Given the description of an element on the screen output the (x, y) to click on. 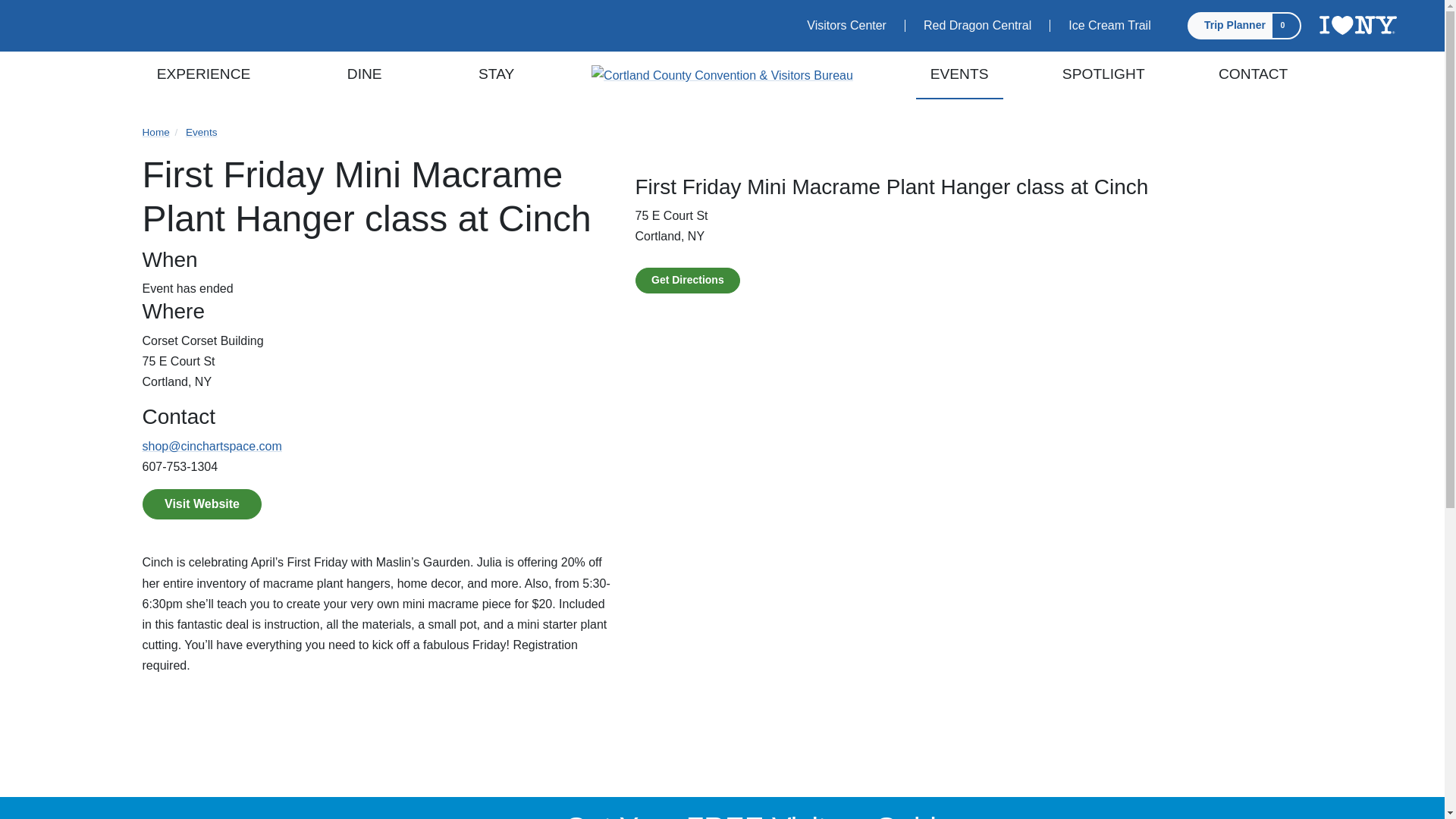
Red Dragon Central (977, 25)
EVENTS (959, 75)
Visit Website (202, 503)
Ice Cream Trail (1109, 25)
Events (201, 132)
First Friday Mini Macrame Plant Hanger class at Cinch (968, 229)
Get Directions (686, 280)
Instagram (129, 18)
Home (156, 132)
STAY (496, 75)
CONTACT (1253, 75)
EXPERIENCE (203, 75)
Pinterest (110, 18)
DINE (364, 75)
Twitter (74, 18)
